Given the description of an element on the screen output the (x, y) to click on. 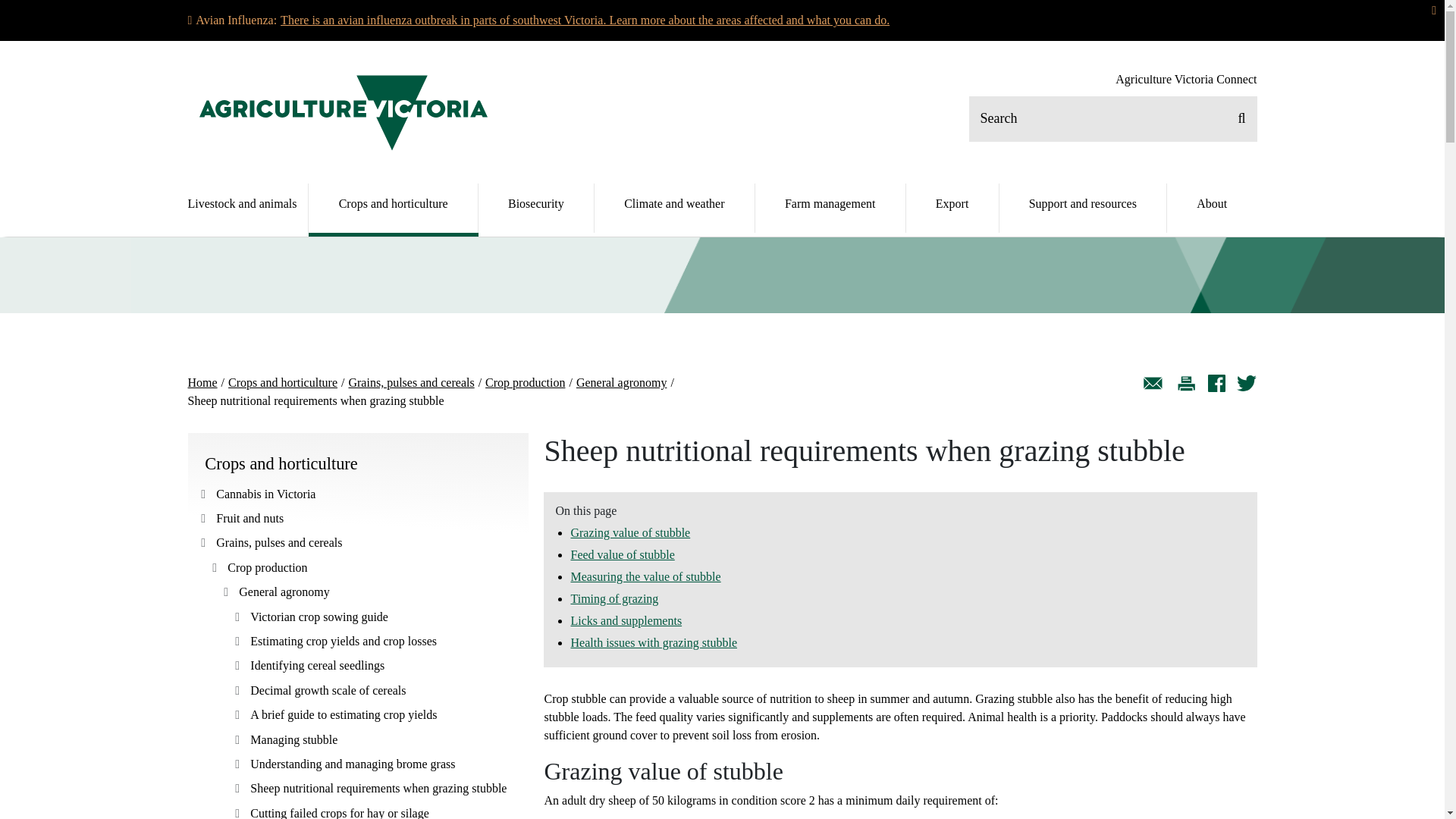
Livestock and animals (247, 207)
Export (951, 207)
Climate and weather (673, 207)
Biosecurity (535, 207)
About (1212, 207)
Crops and horticulture (393, 207)
Agriculture Victoria Connect (1185, 80)
Farm management (829, 207)
Support and resources (1082, 207)
